Given the description of an element on the screen output the (x, y) to click on. 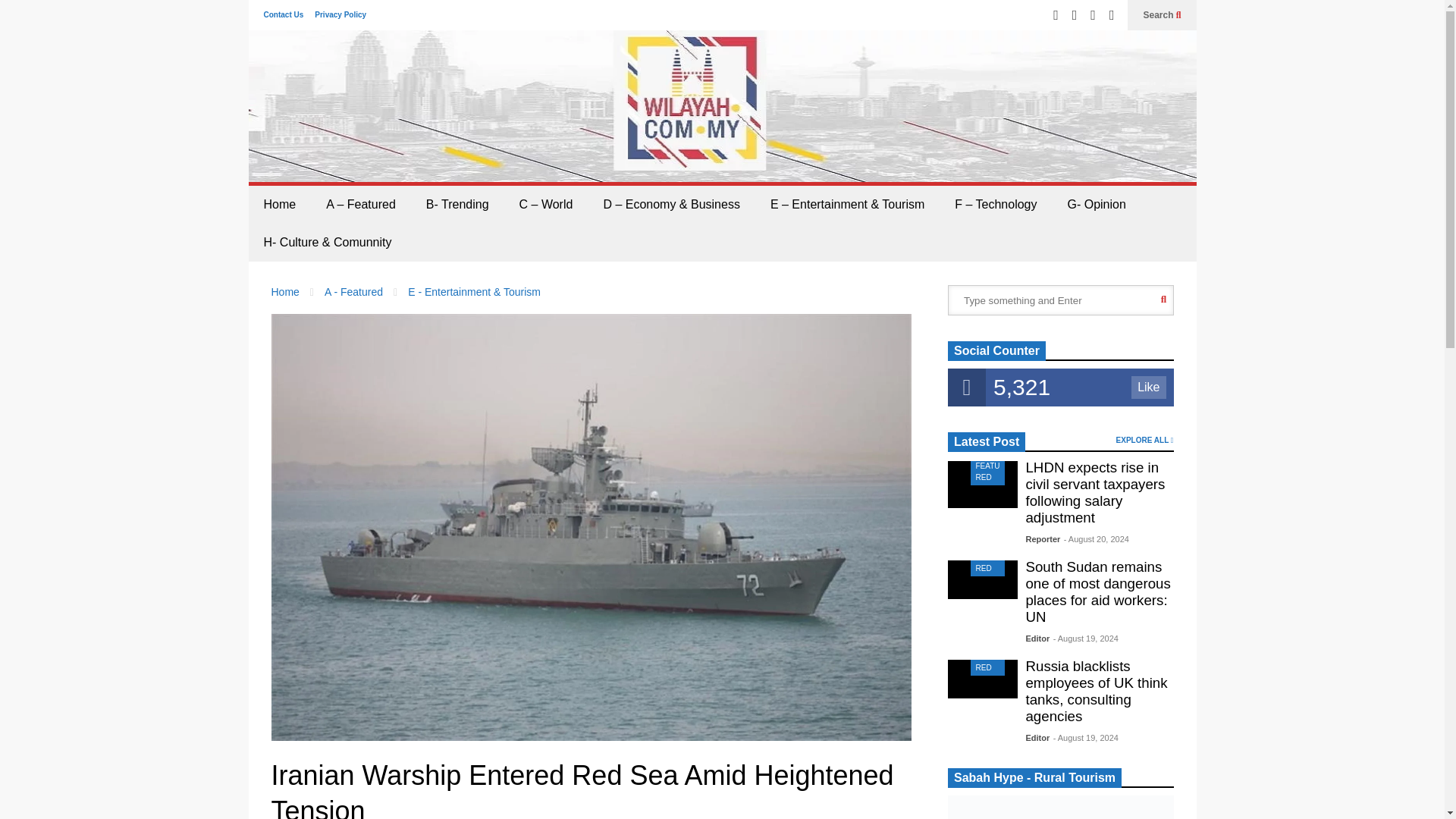
B- Trending (456, 204)
Home (279, 204)
G- Opinion (1095, 204)
Privacy Policy (340, 14)
Contact Us (283, 14)
Search (1161, 15)
A - Featured (353, 291)
Home (284, 291)
